Given the description of an element on the screen output the (x, y) to click on. 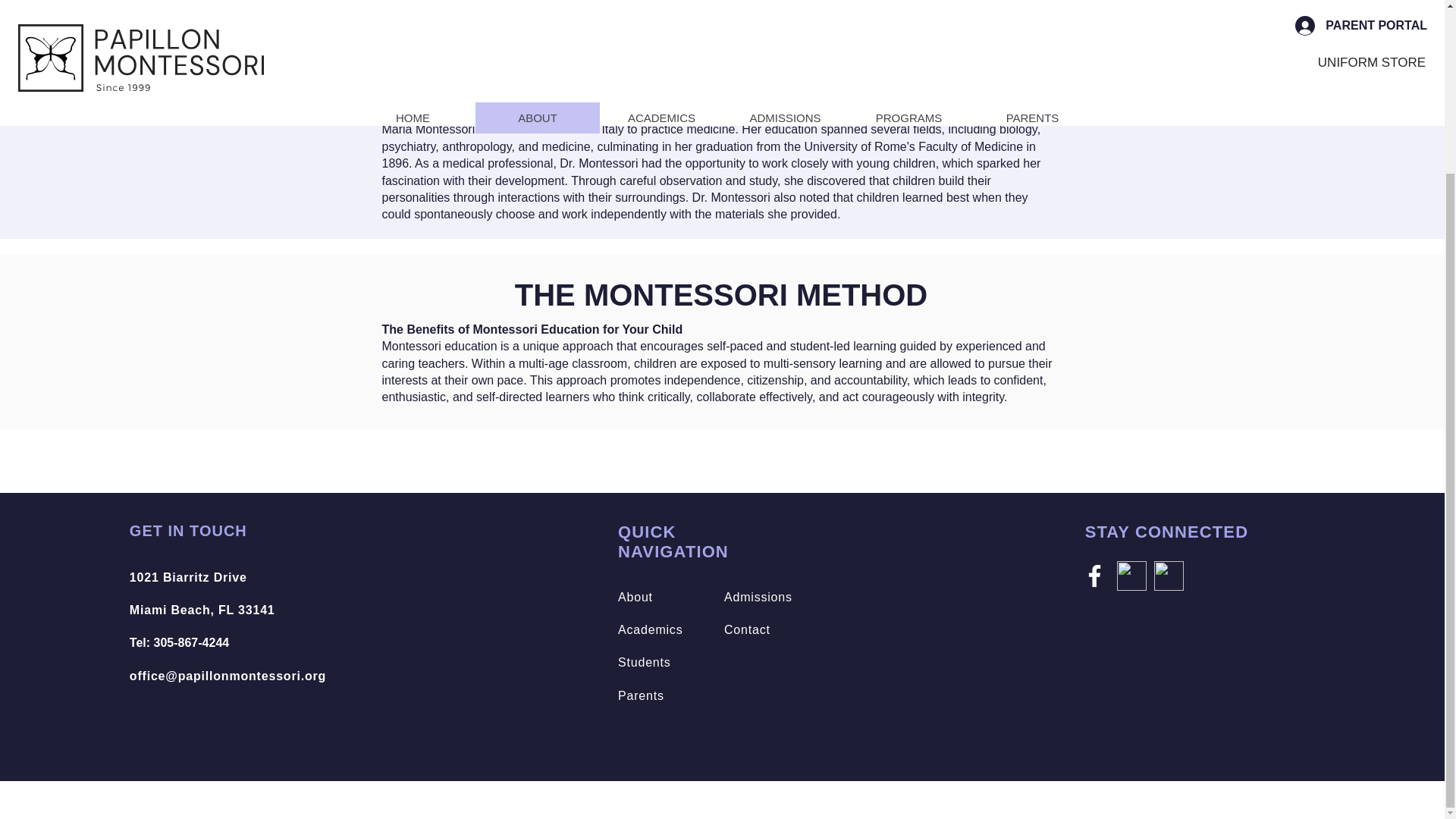
WHO WE ARE (590, 33)
MONTESSORI METHOD (971, 33)
Students (644, 662)
Tel: 305-867-4244 (202, 593)
Admissions (178, 642)
Parents (757, 596)
CAMPUS (640, 695)
Academics (765, 33)
Contact (649, 629)
